Given the description of an element on the screen output the (x, y) to click on. 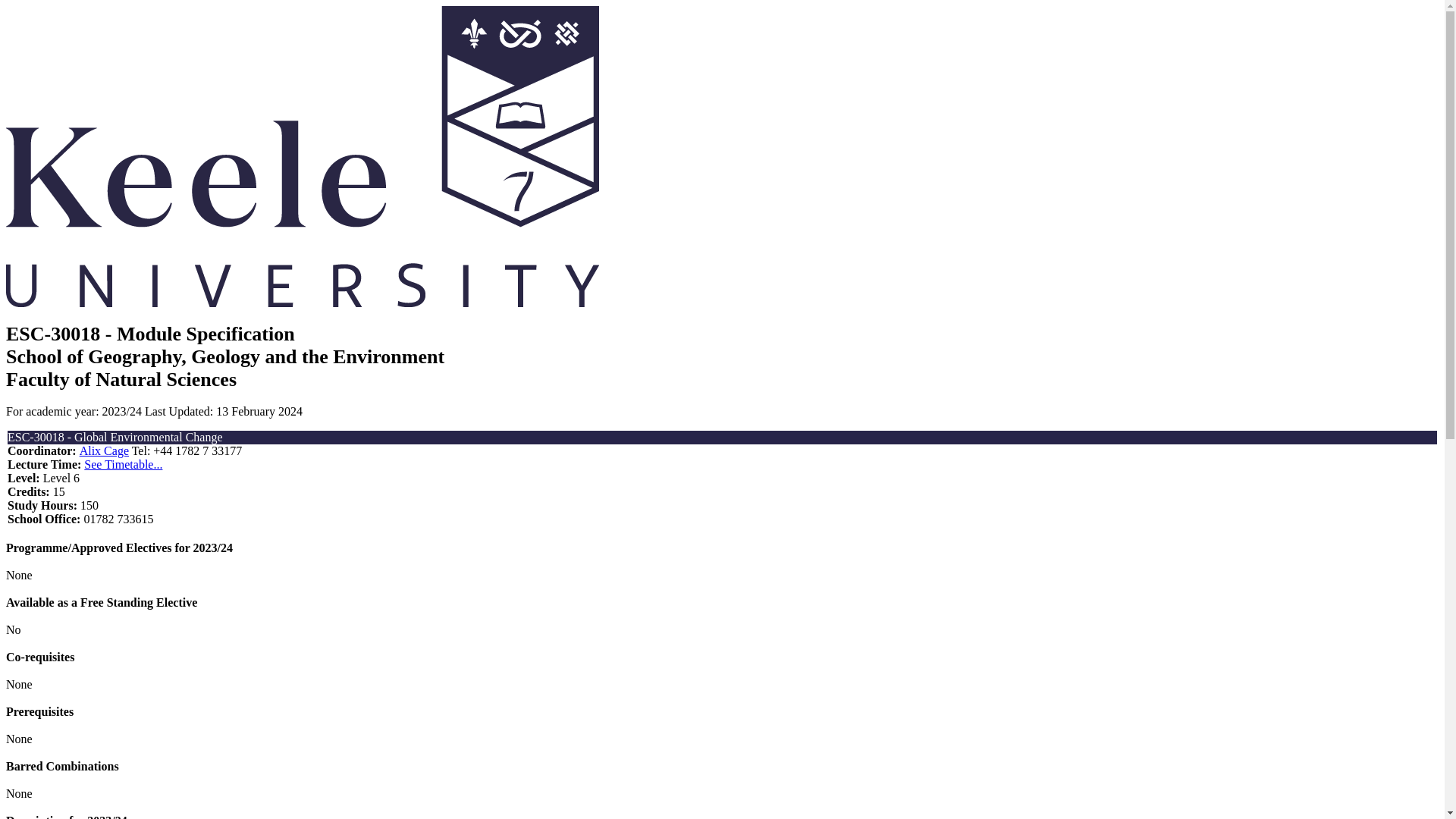
View timetable for module (122, 463)
See Timetable... (122, 463)
Alix Cage (104, 450)
